Given the description of an element on the screen output the (x, y) to click on. 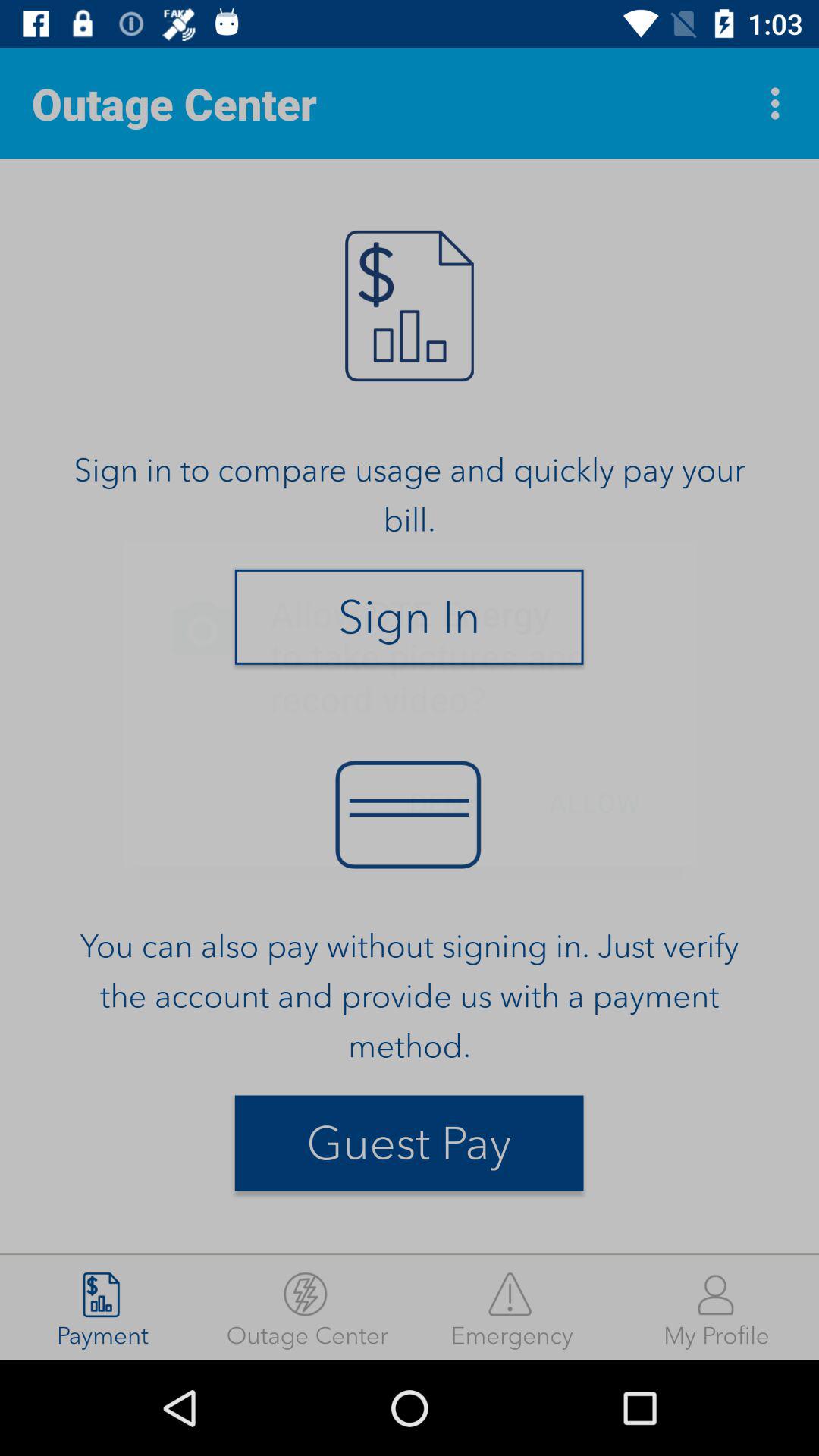
jump to the my profile item (716, 1307)
